Given the description of an element on the screen output the (x, y) to click on. 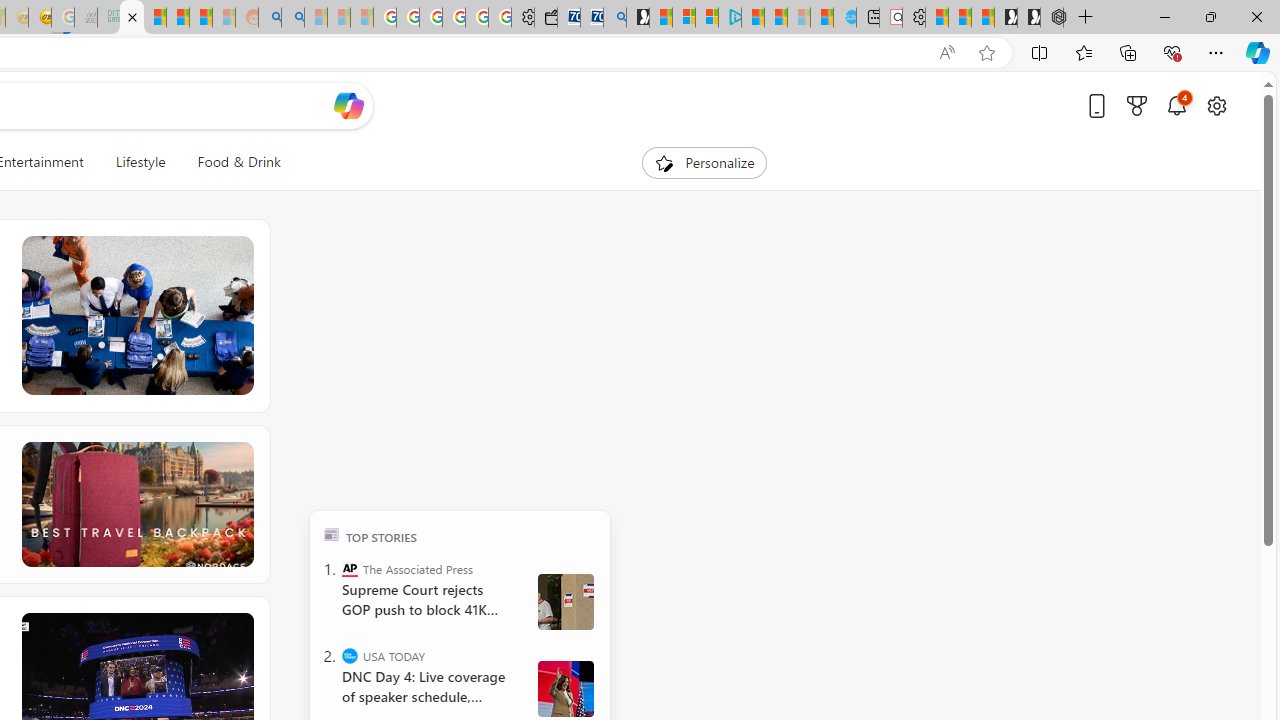
Wallet (545, 17)
USA TODAY (349, 655)
